Given the description of an element on the screen output the (x, y) to click on. 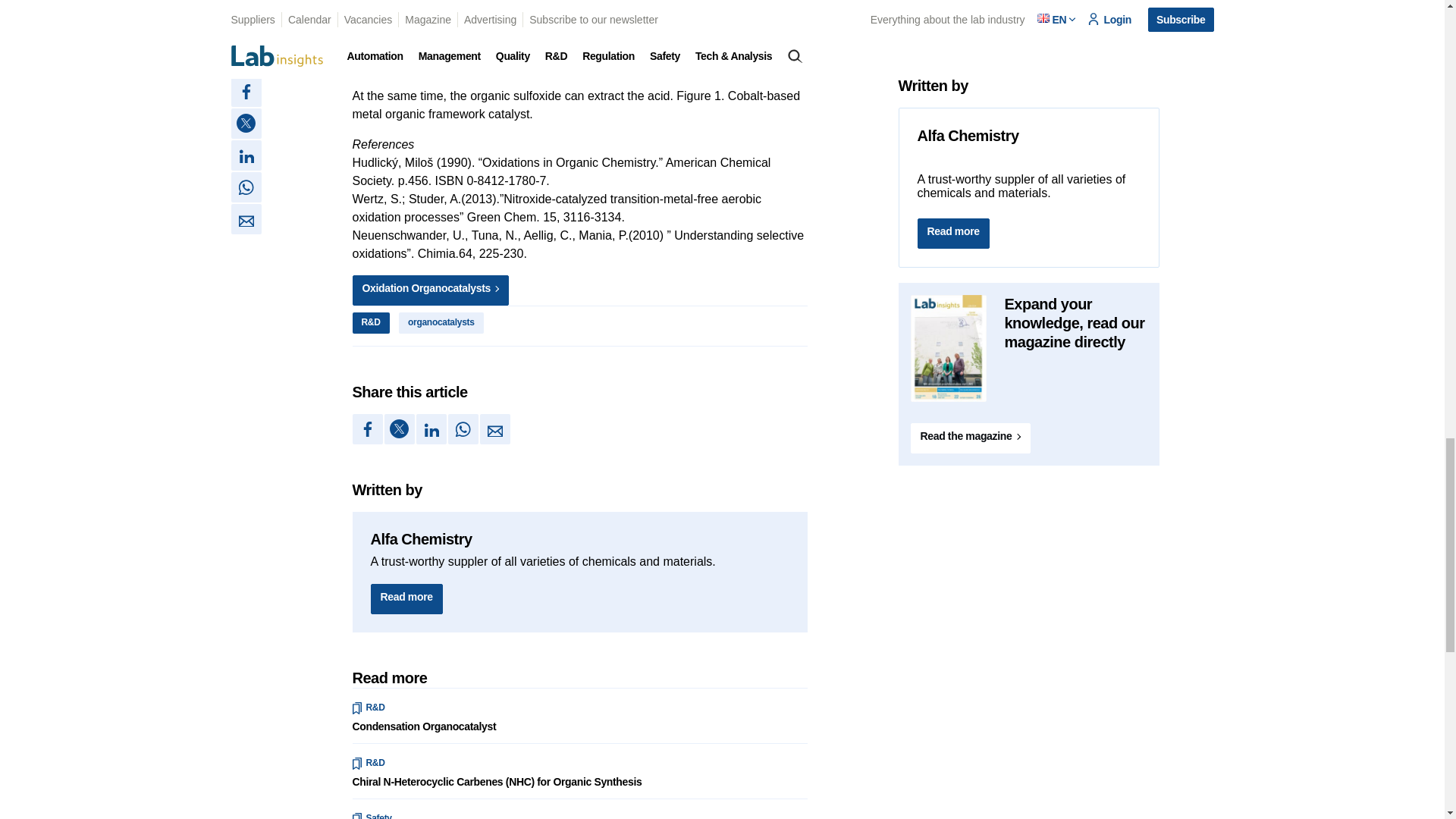
icon.arrow--dark (496, 288)
Share on Facebook (366, 429)
Tweet this (398, 429)
Share on Whatsapp (461, 429)
Share on Linkedin (429, 429)
